Given the description of an element on the screen output the (x, y) to click on. 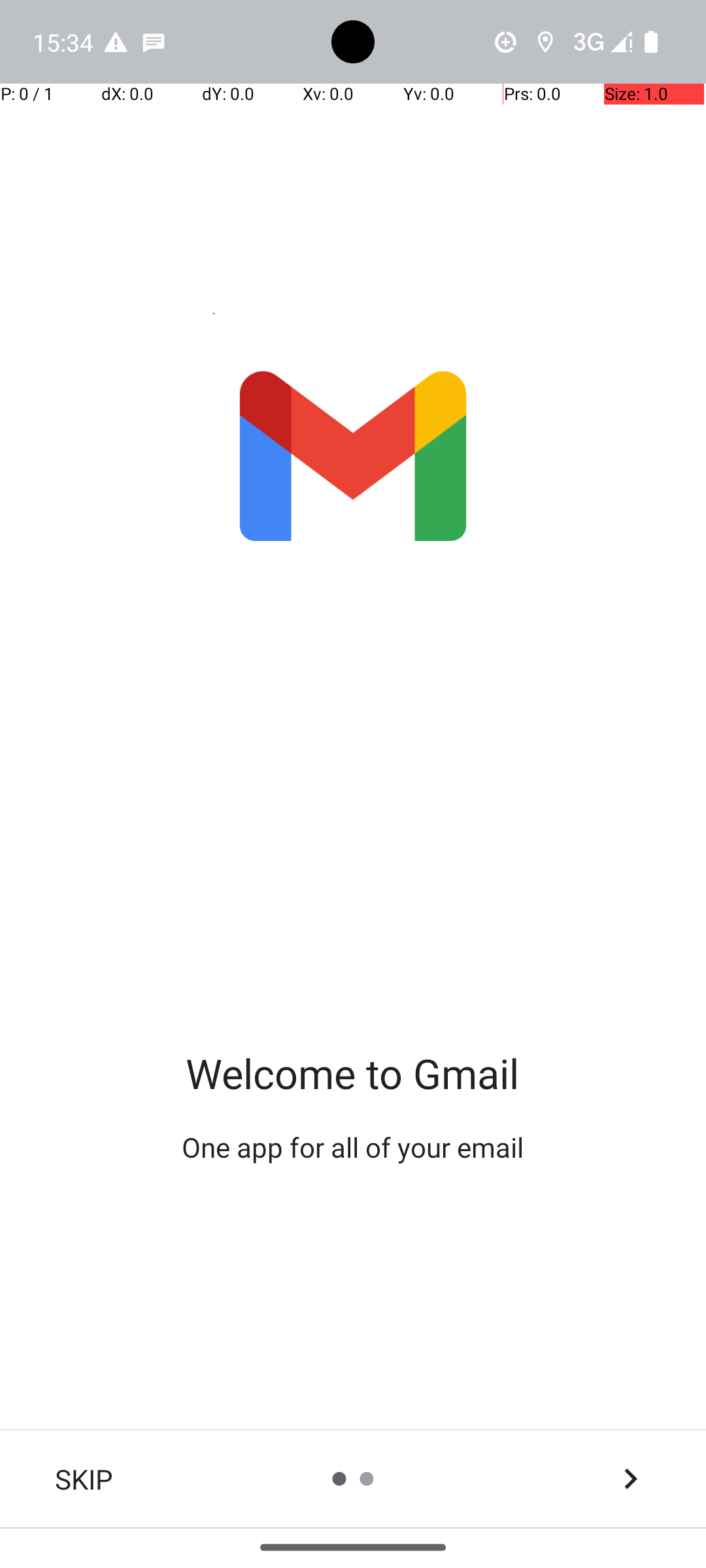
SKIP Element type: android.widget.TextView (83, 1478)
Welcome to Gmail Element type: android.widget.TextView (352, 1072)
One app for all of your email Element type: android.widget.TextView (352, 1146)
